Given the description of an element on the screen output the (x, y) to click on. 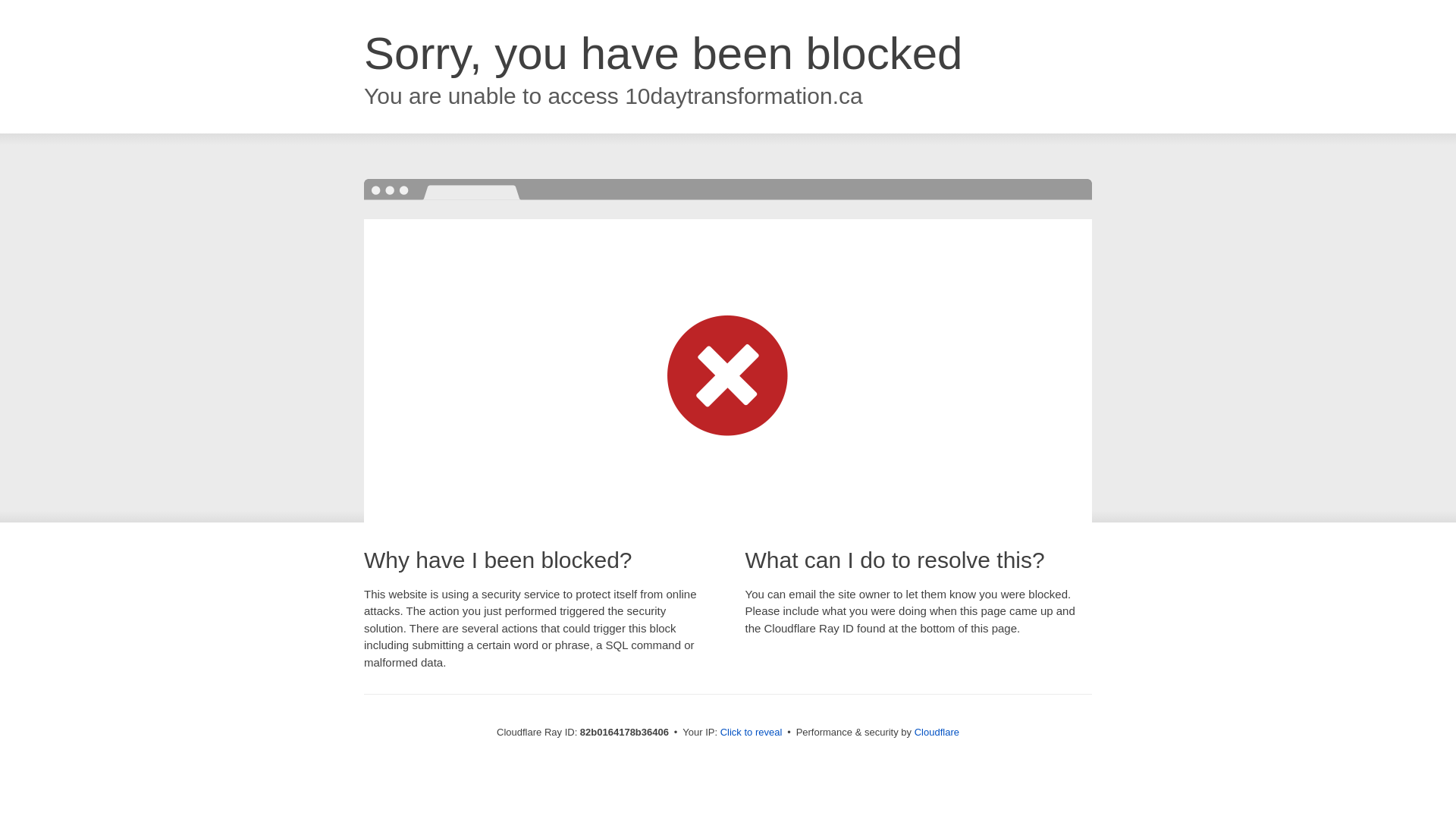
Click to reveal Element type: text (751, 732)
Cloudflare Element type: text (936, 731)
